Given the description of an element on the screen output the (x, y) to click on. 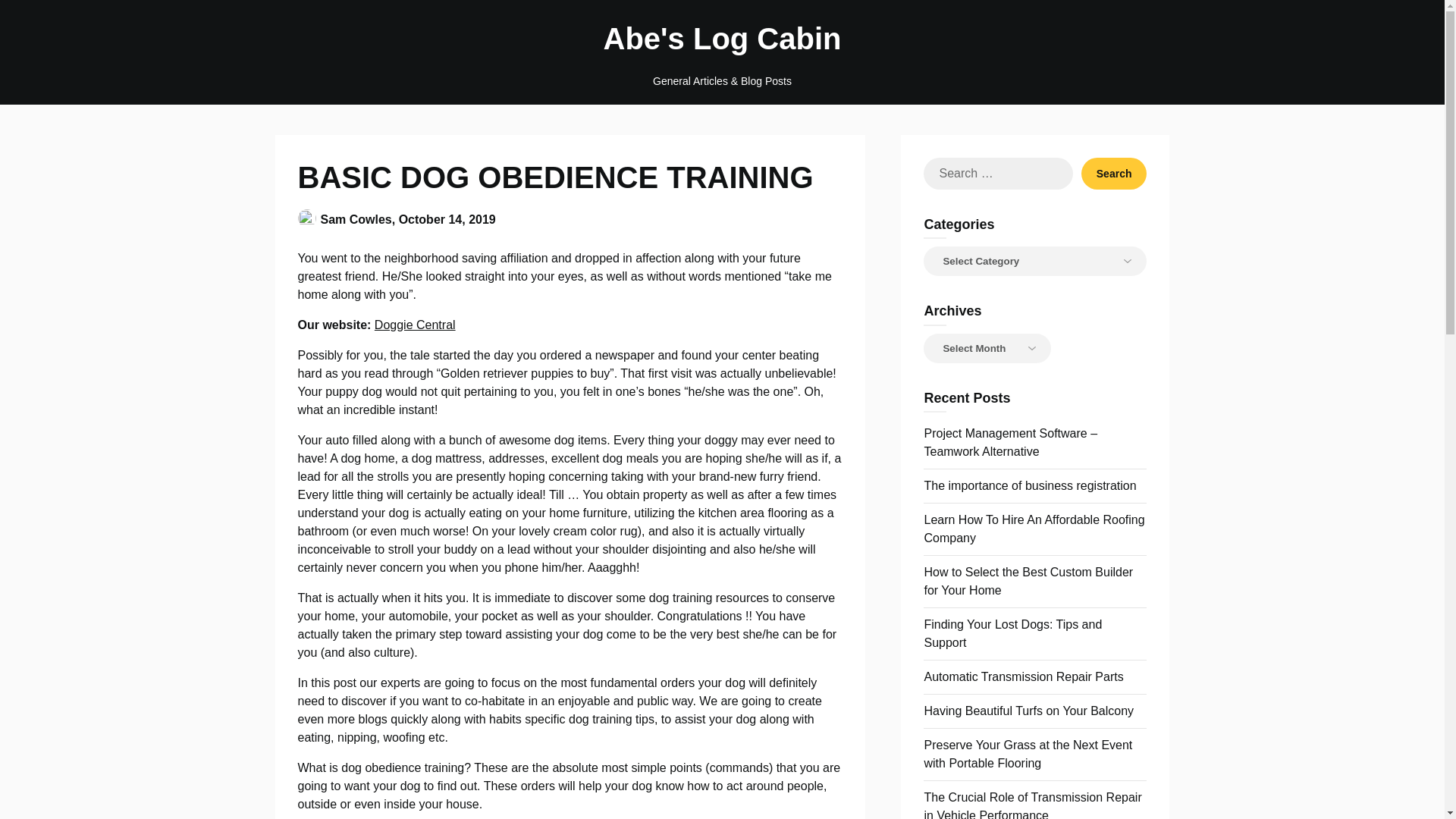
October 14, 2019 (447, 218)
The importance of business registration (1029, 485)
Search (1114, 173)
Doggie Central (414, 324)
Having Beautiful Turfs on Your Balcony (1028, 710)
How to Select the Best Custom Builder for Your Home (1027, 581)
Search (1114, 173)
Search (1114, 173)
Finding Your Lost Dogs: Tips and Support (1012, 633)
Learn How To Hire An Affordable Roofing Company (1033, 528)
Abe's Log Cabin (722, 38)
Automatic Transmission Repair Parts (1022, 676)
Preserve Your Grass at the Next Event with Portable Flooring (1027, 753)
